Given the description of an element on the screen output the (x, y) to click on. 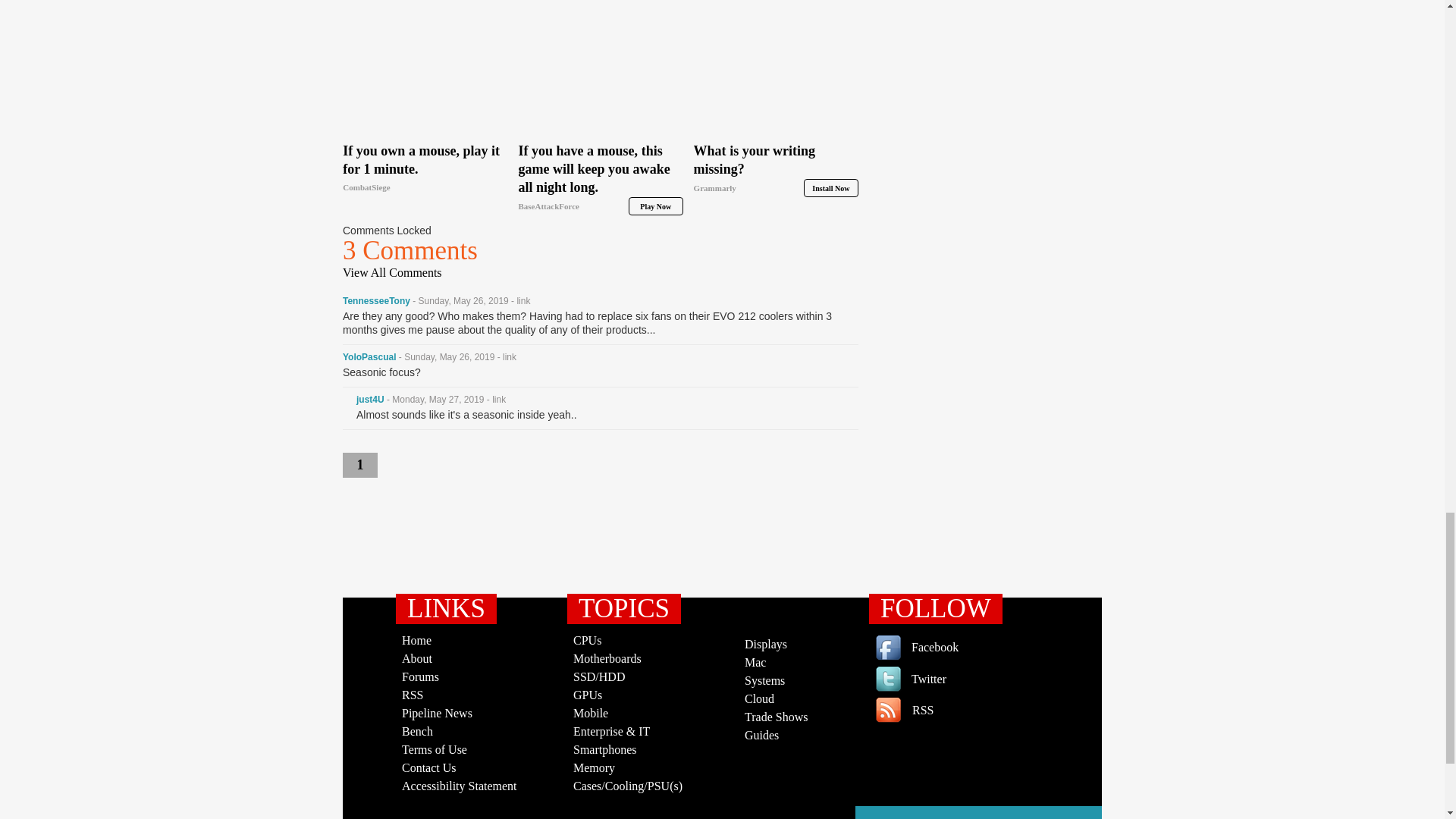
If you own a mouse, play it for 1 minute. (424, 69)
If you own a mouse, play it for 1 minute. (424, 168)
What is your writing missing? (776, 169)
What is your writing missing? (776, 69)
